Given the description of an element on the screen output the (x, y) to click on. 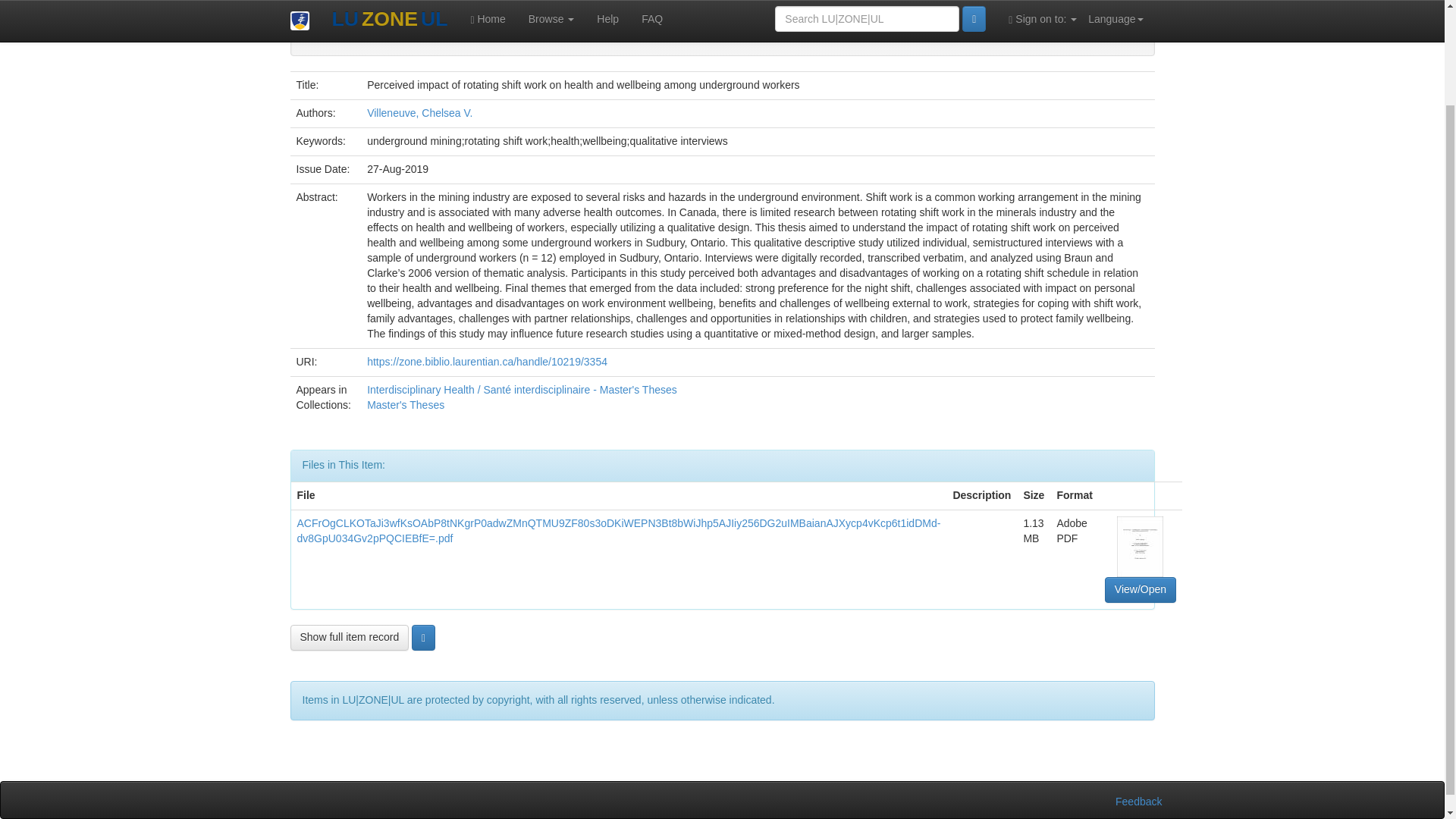
Show full item record (349, 637)
Feedback (1138, 801)
Villeneuve, Chelsea V. (418, 112)
Master's Theses (405, 404)
